Given the description of an element on the screen output the (x, y) to click on. 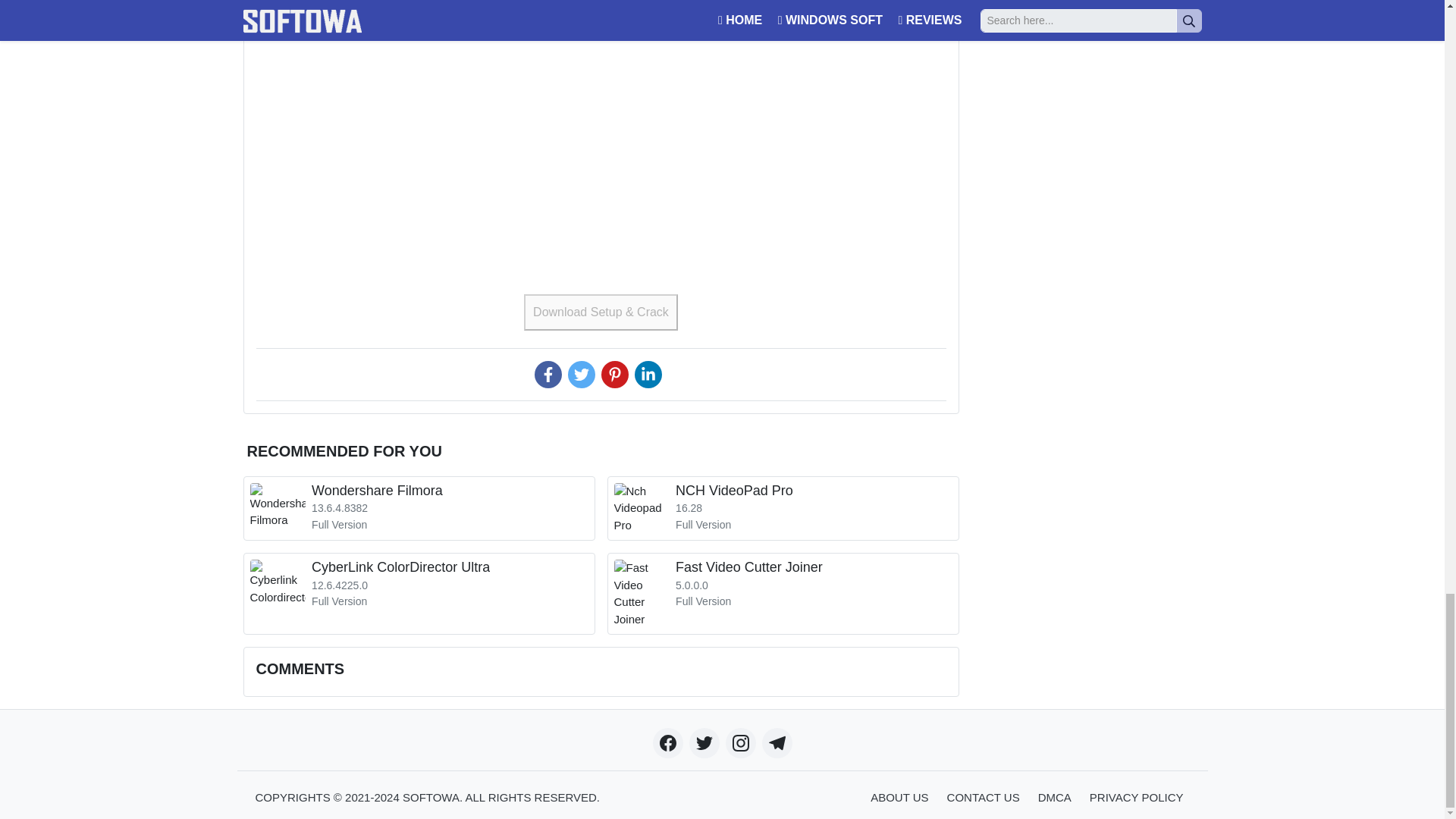
CyberLink ColorDirector Ultra (418, 593)
Fast Video Cutter Joiner (418, 593)
FilmConvert Nitrate Full Preactivated (782, 593)
Wondershare Filmora (782, 508)
NCH VideoPad Pro (418, 508)
